Given the description of an element on the screen output the (x, y) to click on. 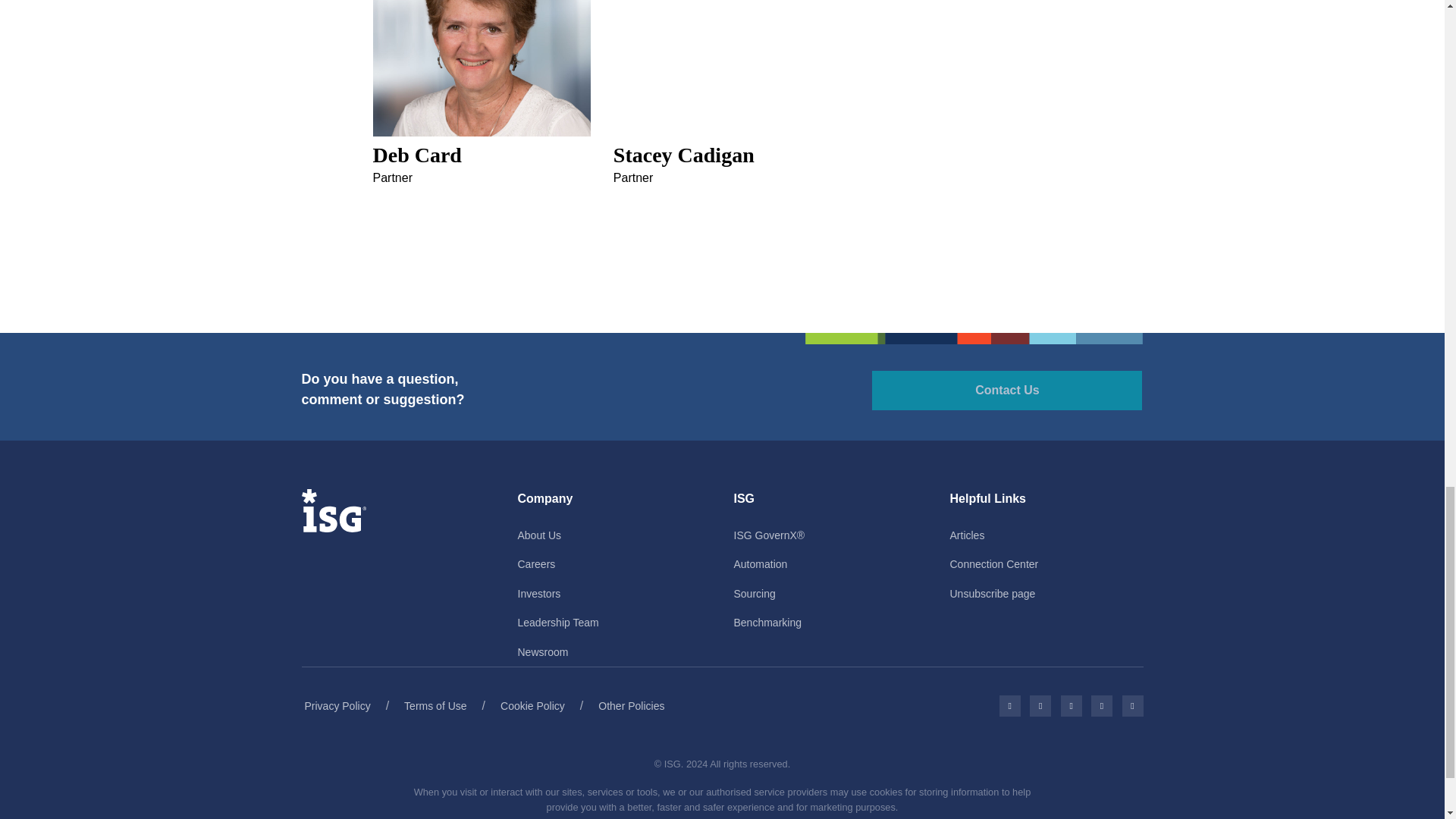
Subscribe on YouTube (1101, 705)
Bar (973, 337)
Follow us on LinkedIn (1071, 705)
Feed for RSS readers (1132, 705)
Like us on Facebook (1009, 705)
Follow us on Twitter (1040, 705)
